Given the description of an element on the screen output the (x, y) to click on. 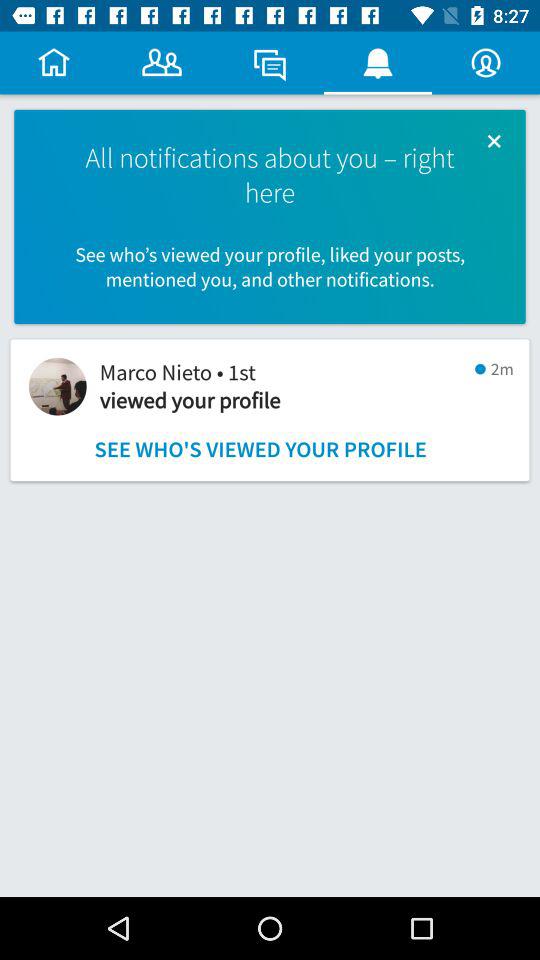
turn on the item to the right of the all notifications about item (493, 140)
